Given the description of an element on the screen output the (x, y) to click on. 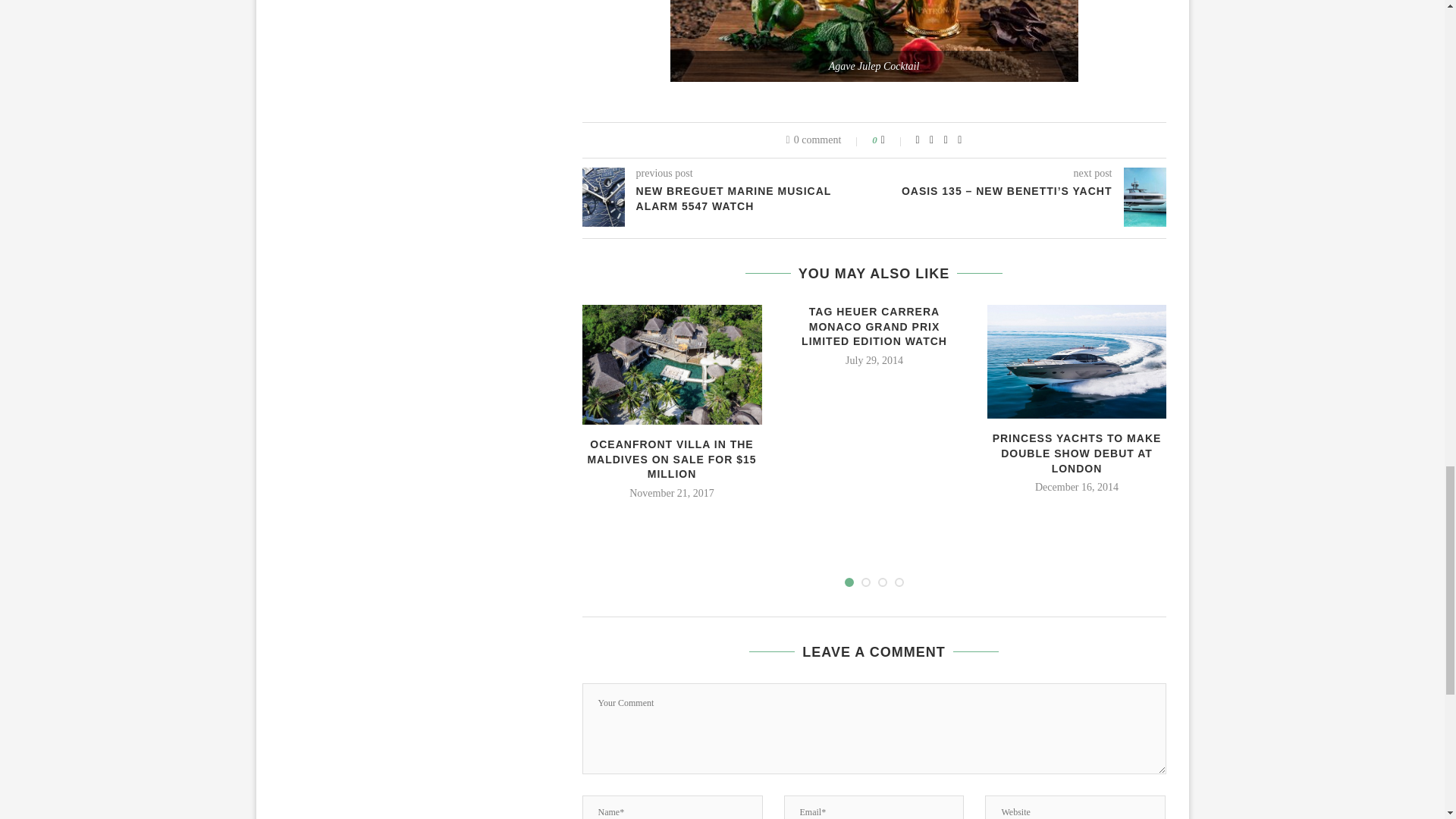
Like (892, 140)
